Given the description of an element on the screen output the (x, y) to click on. 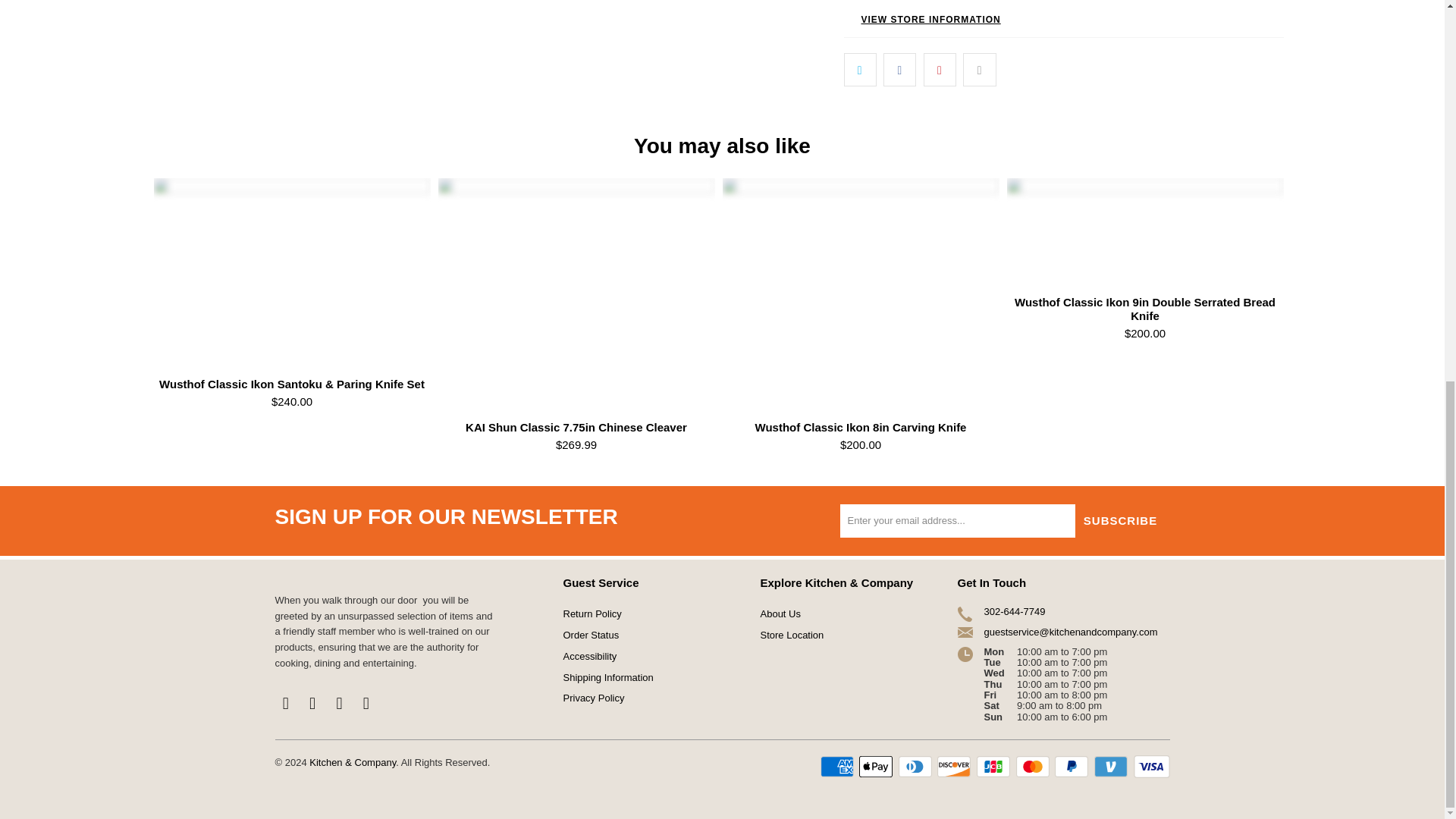
American Express (839, 766)
Visa (1150, 766)
Discover (955, 766)
Share this on Twitter (859, 68)
Venmo (1112, 766)
Subscribe (1120, 520)
JCB (994, 766)
Share this on Pinterest (939, 68)
Mastercard (1034, 766)
Email this to a friend (978, 68)
